Given the description of an element on the screen output the (x, y) to click on. 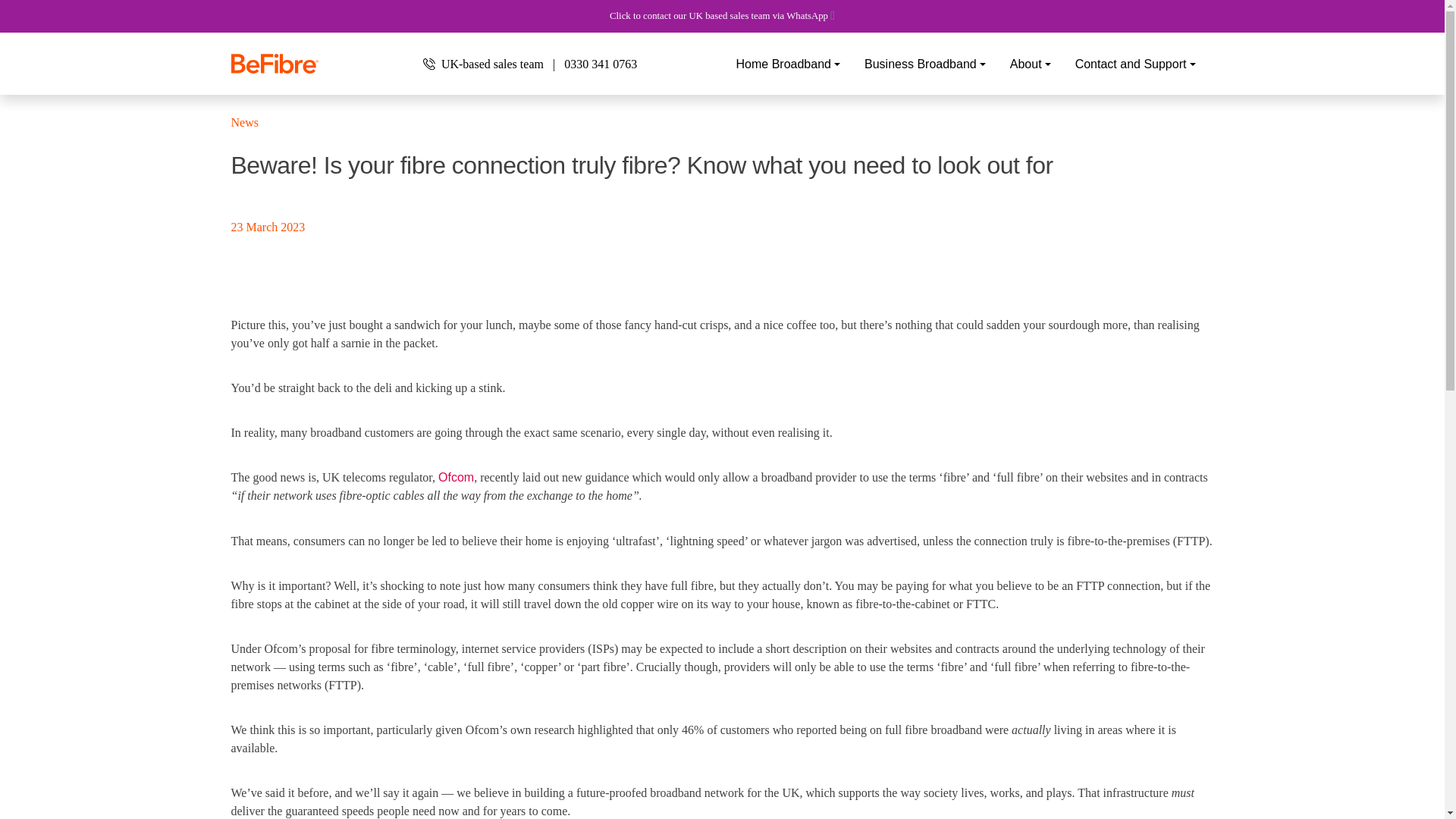
Ofcom (456, 477)
Contact and Support (1135, 63)
Business Broadband (925, 63)
Home Broadband (788, 63)
About (1030, 63)
